Given the description of an element on the screen output the (x, y) to click on. 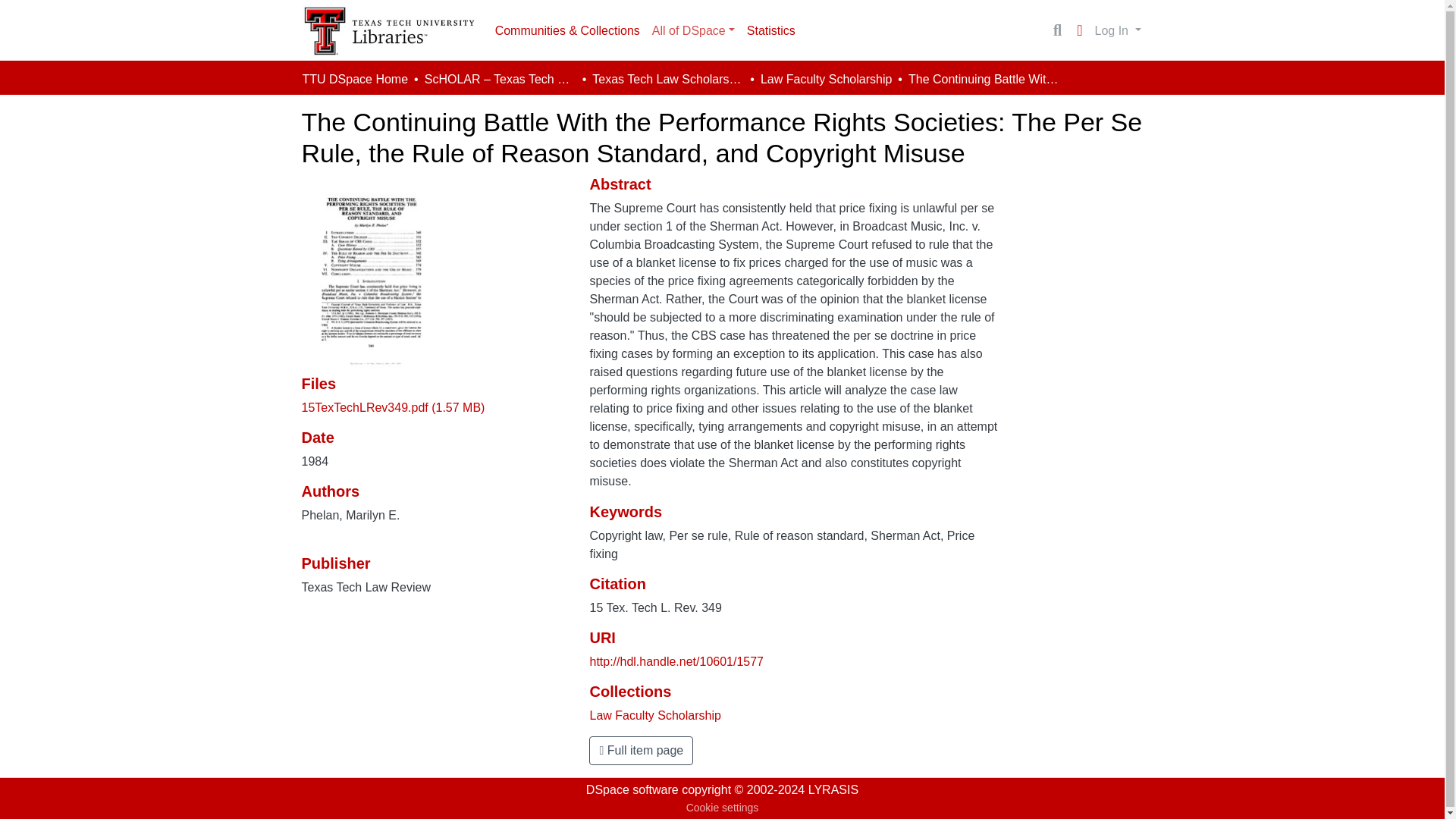
Texas Tech Law Scholarship (668, 79)
Statistics (771, 30)
Cookie settings (722, 807)
Full item page (641, 750)
Statistics (771, 30)
Law Faculty Scholarship (654, 715)
Log In (1117, 30)
DSpace software (632, 789)
Law Faculty Scholarship (825, 79)
Search (1057, 30)
TTU DSpace Home (354, 79)
LYRASIS (833, 789)
Language switch (1079, 30)
All of DSpace (693, 30)
